Given the description of an element on the screen output the (x, y) to click on. 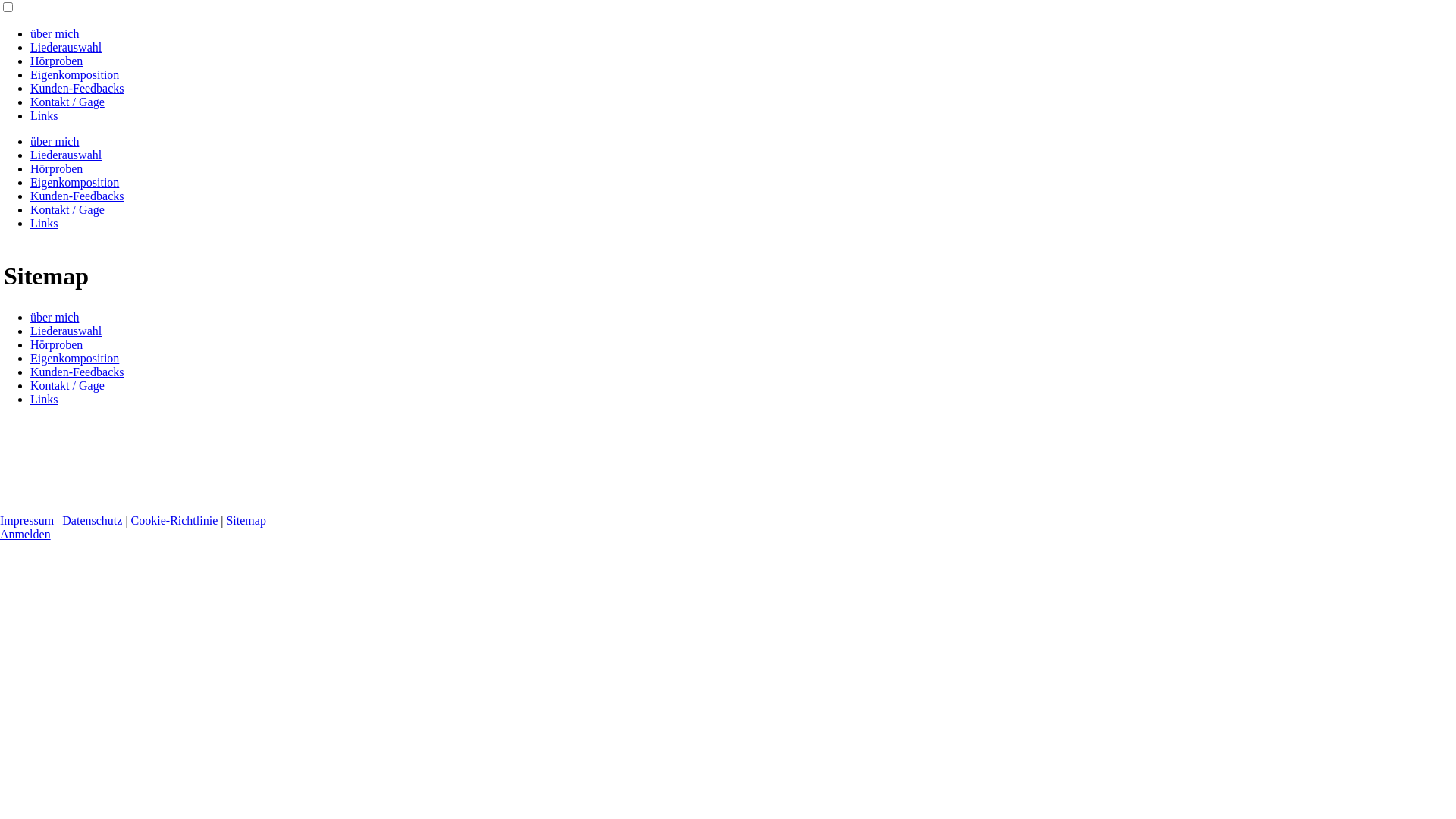
Datenschutz Element type: text (92, 520)
Liederauswahl Element type: text (65, 46)
Liederauswahl Element type: text (65, 154)
Kontakt / Gage Element type: text (67, 209)
Eigenkomposition Element type: text (74, 181)
Kunden-Feedbacks Element type: text (77, 195)
Eigenkomposition Element type: text (74, 357)
Eigenkomposition Element type: text (74, 74)
Anmelden Element type: text (25, 533)
Sitemap Element type: text (245, 520)
Links Element type: text (43, 398)
Kunden-Feedbacks Element type: text (77, 371)
Cookie-Richtlinie Element type: text (174, 520)
Kontakt / Gage Element type: text (67, 101)
Links Element type: text (43, 222)
Kunden-Feedbacks Element type: text (77, 87)
Links Element type: text (43, 115)
Liederauswahl Element type: text (65, 330)
Impressum Element type: text (26, 520)
Kontakt / Gage Element type: text (67, 385)
